Given the description of an element on the screen output the (x, y) to click on. 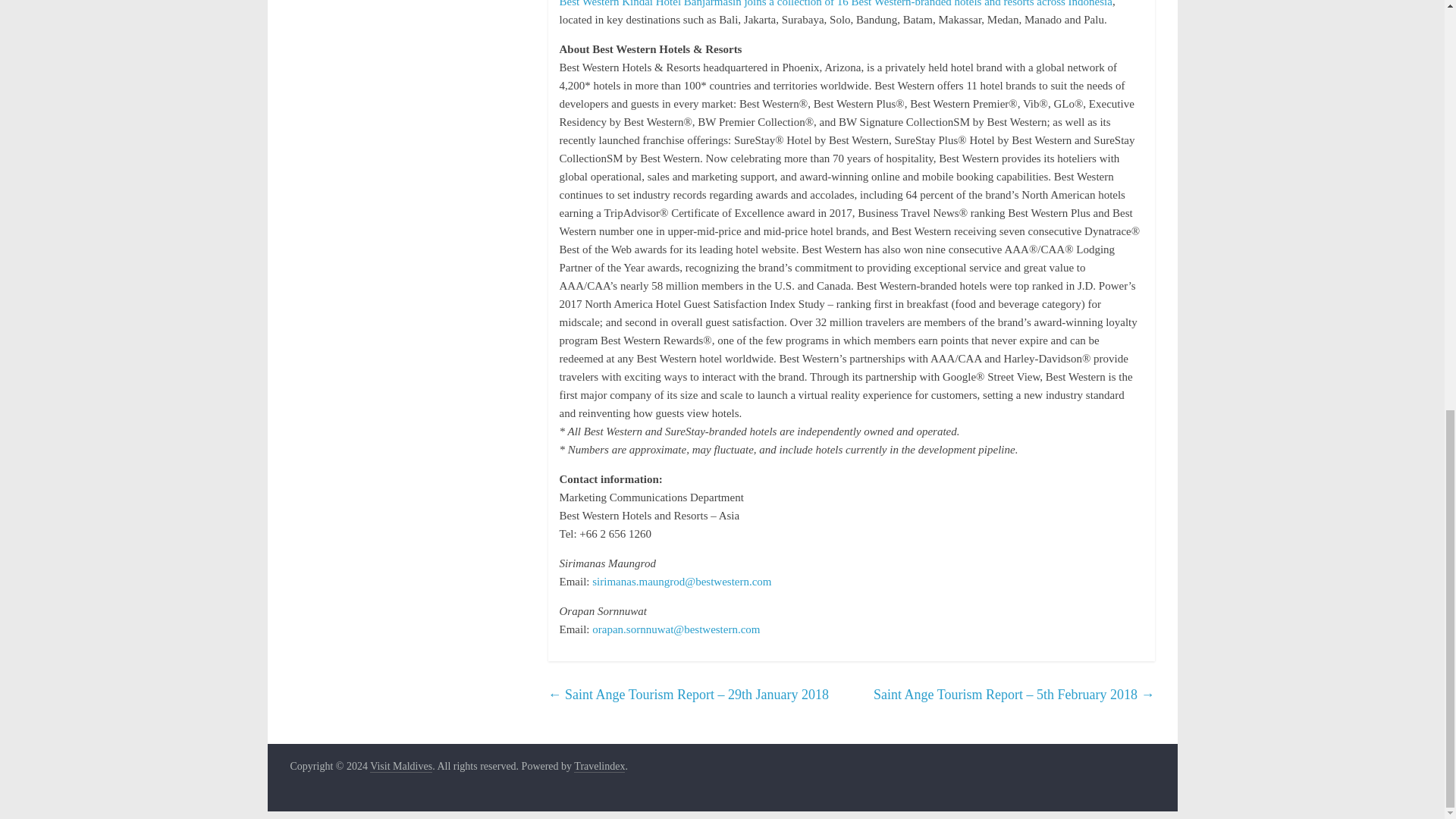
Visit Maldives (400, 766)
Visit Maldives (400, 766)
Travelindex (598, 766)
